Given the description of an element on the screen output the (x, y) to click on. 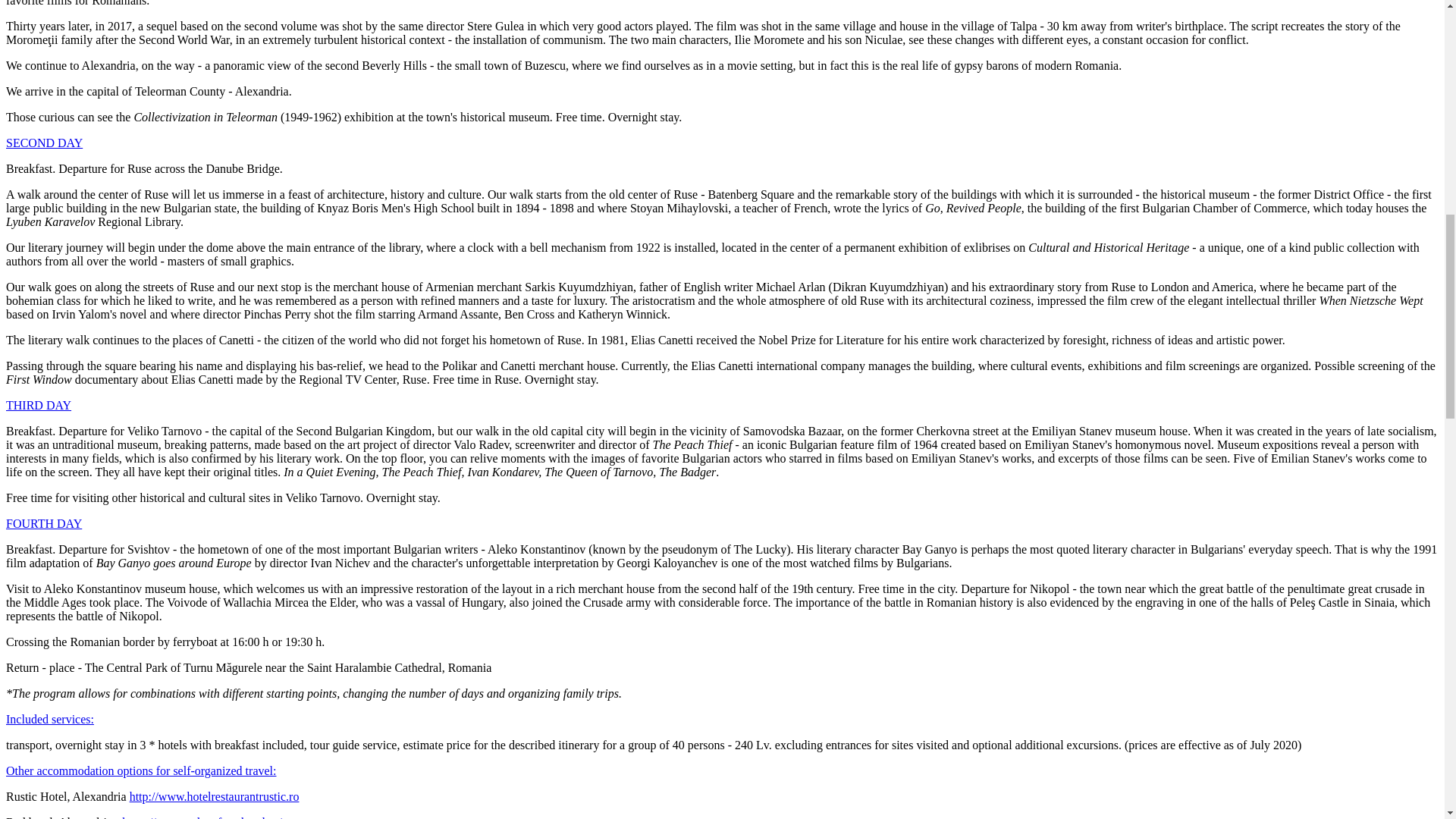
THIRD DAY (38, 404)
SECOND DAY (43, 142)
FOURTH DAY (43, 522)
Included services: (49, 718)
Other accommodation options for self-organized travel: (140, 770)
